Given the description of an element on the screen output the (x, y) to click on. 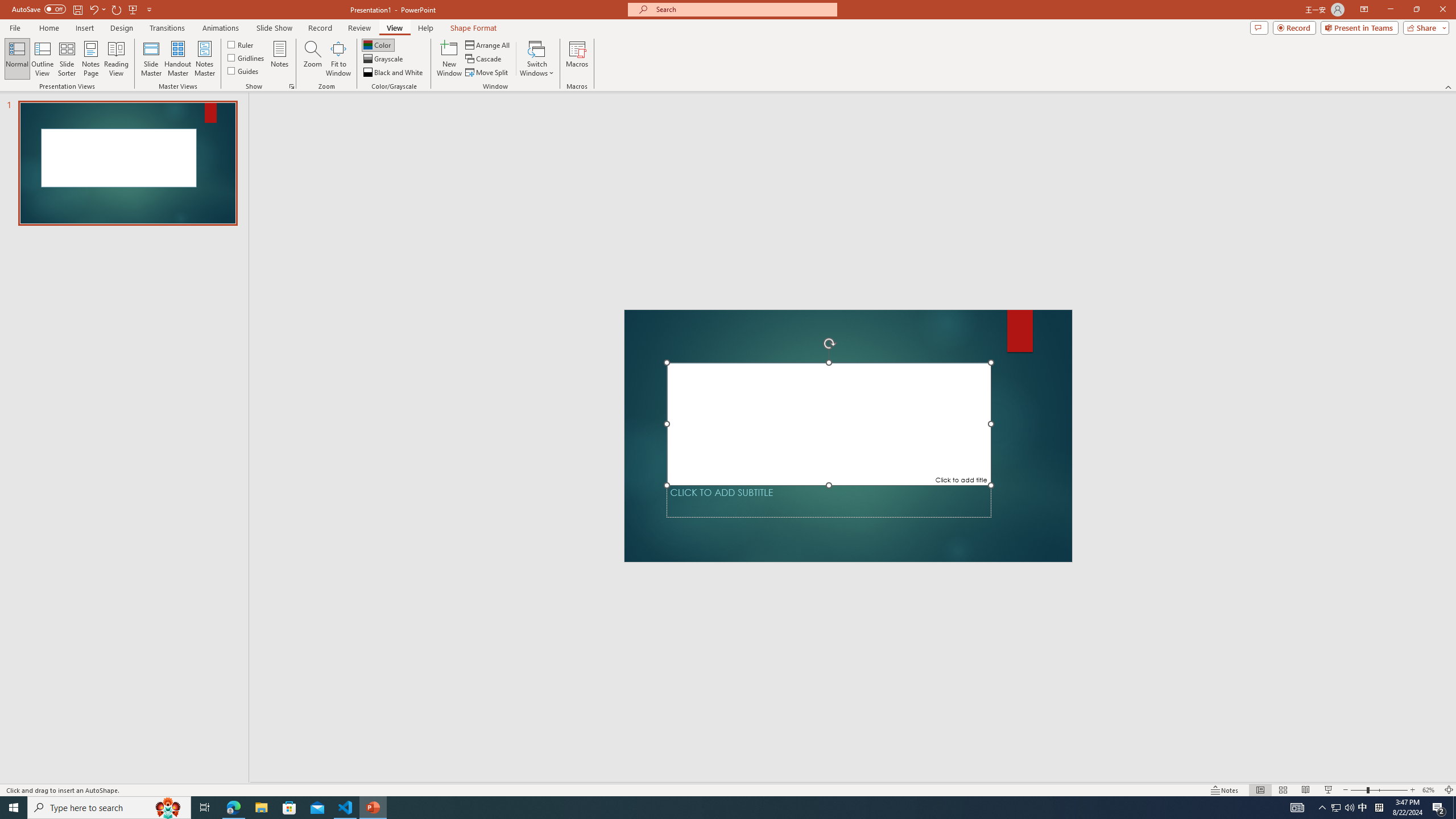
Gridlines (246, 56)
Zoom... (312, 58)
Outline View (42, 58)
Guides (243, 69)
